Given the description of an element on the screen output the (x, y) to click on. 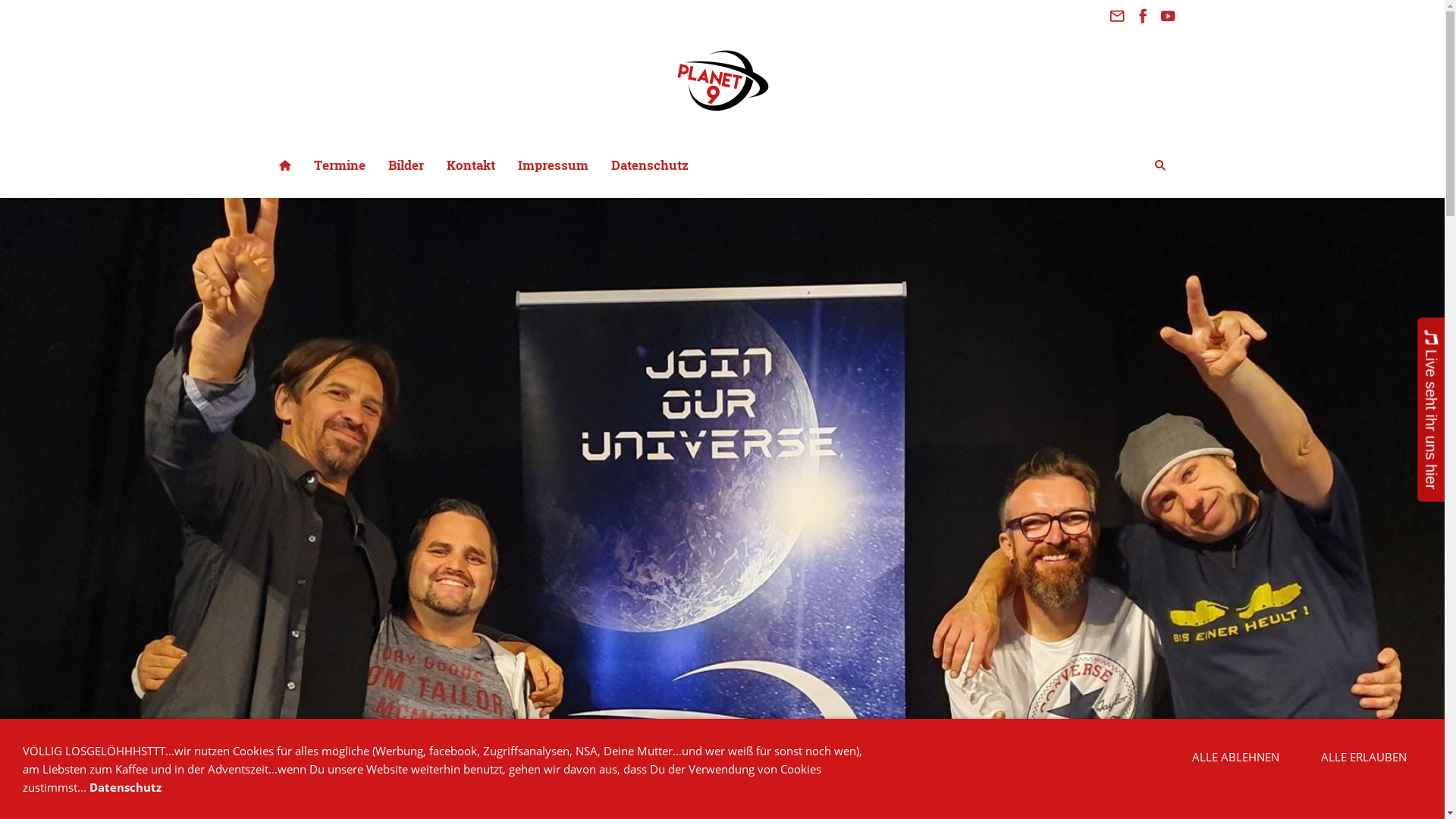
ALLE ERLAUBEN Element type: text (1363, 756)
Kontakt Element type: text (470, 164)
Senden Sie uns eine E-Mail-Nachricht Element type: hover (1116, 16)
Bilder Element type: text (405, 164)
Datenschutz Element type: text (125, 786)
Zu unserem YouTube Video-Kanal Element type: hover (1168, 16)
Impressum Element type: text (552, 164)
Unsere Facebook-Seite besuchen Element type: hover (1142, 16)
Termine Element type: text (338, 164)
Datenschutz Element type: text (649, 164)
ALLE ABLEHNEN Element type: text (1235, 756)
